Given the description of an element on the screen output the (x, y) to click on. 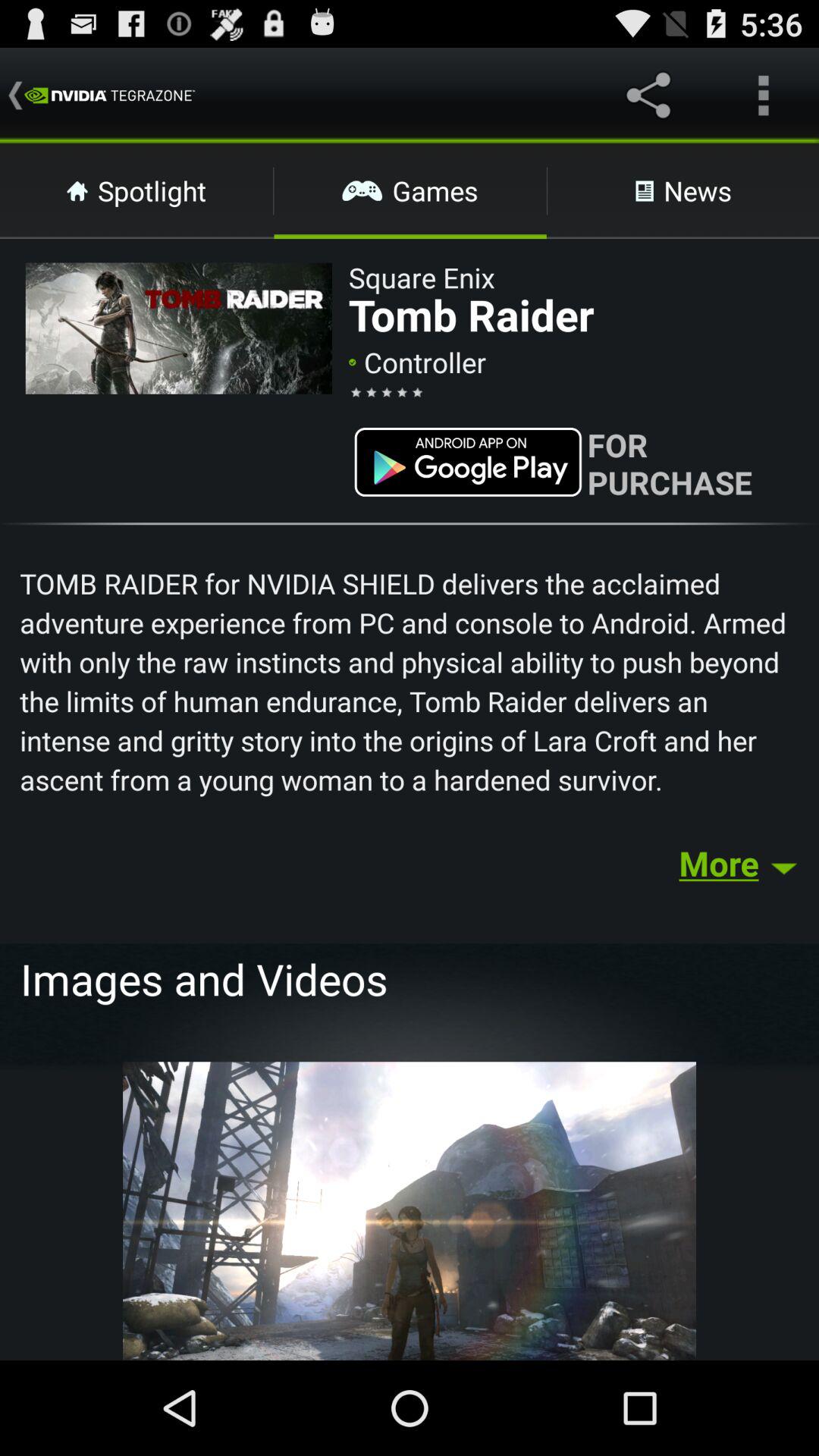
click on the share icon (651, 95)
select the image below the spotlight (178, 328)
select the option which is below the share icon (683, 190)
click the image which is above the navigation bar (409, 1208)
click on the text which is left to share icon (109, 95)
